Given the description of an element on the screen output the (x, y) to click on. 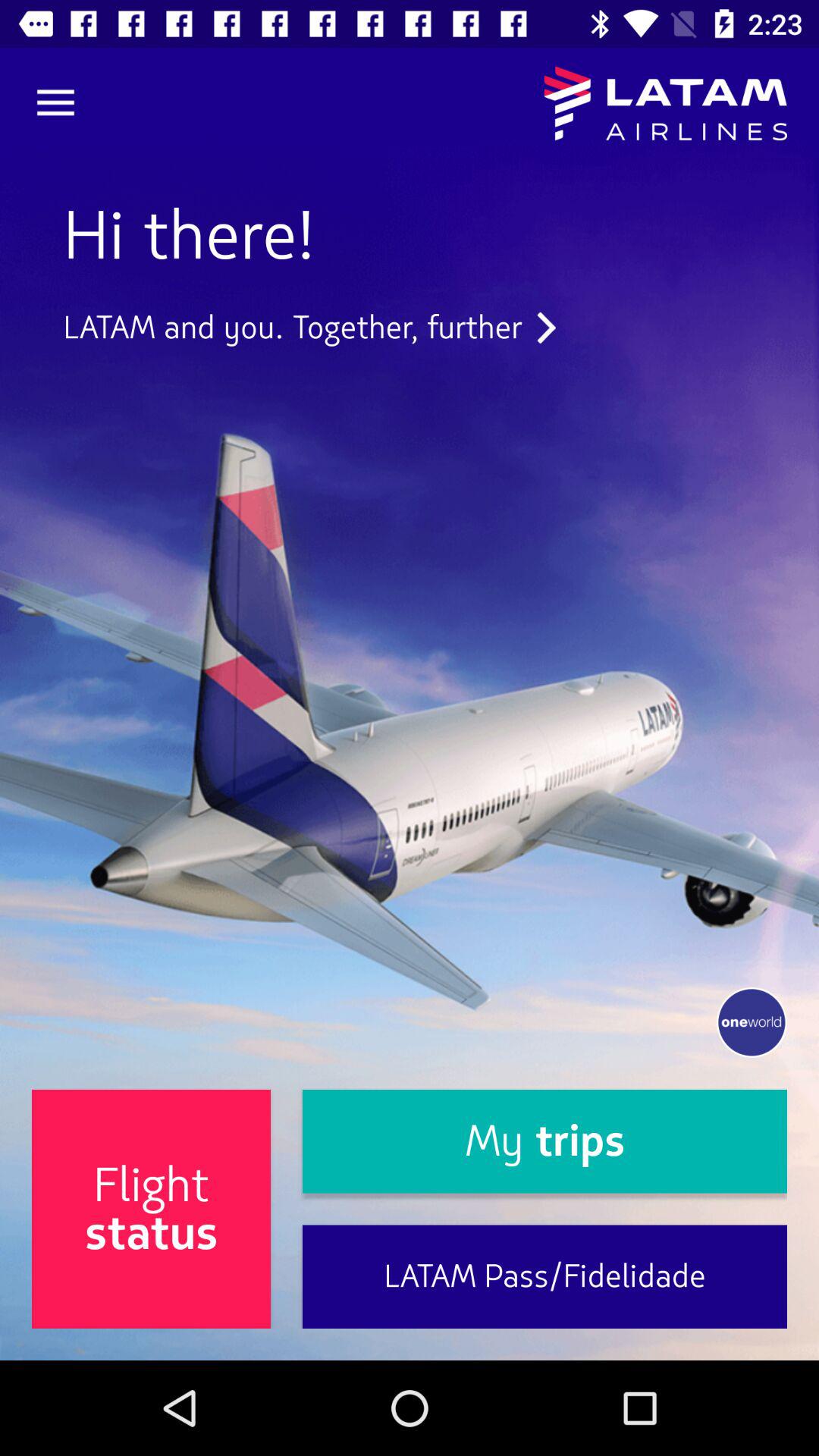
select item to the right of the flight
status item (544, 1141)
